Given the description of an element on the screen output the (x, y) to click on. 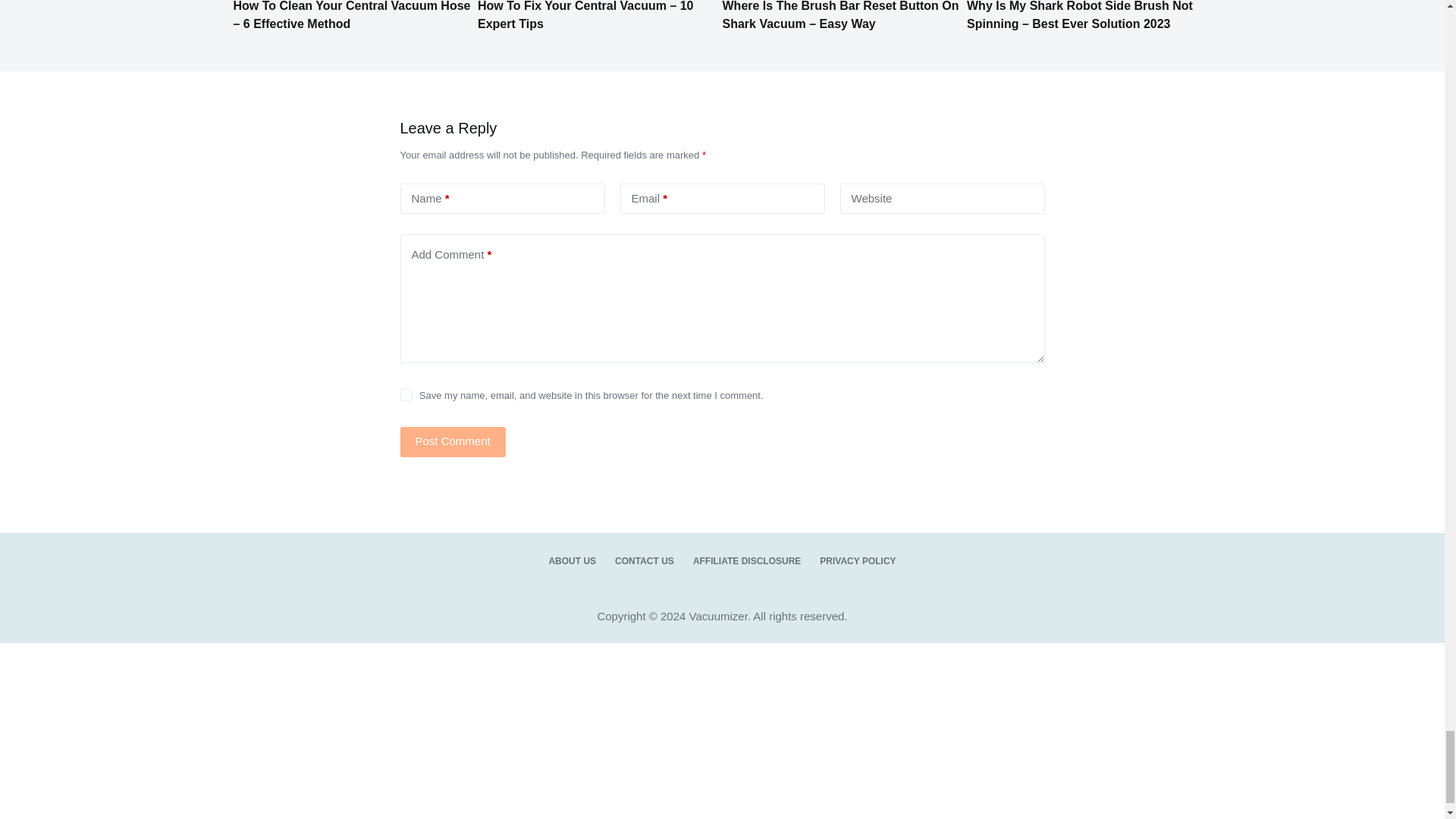
yes (406, 395)
